Given the description of an element on the screen output the (x, y) to click on. 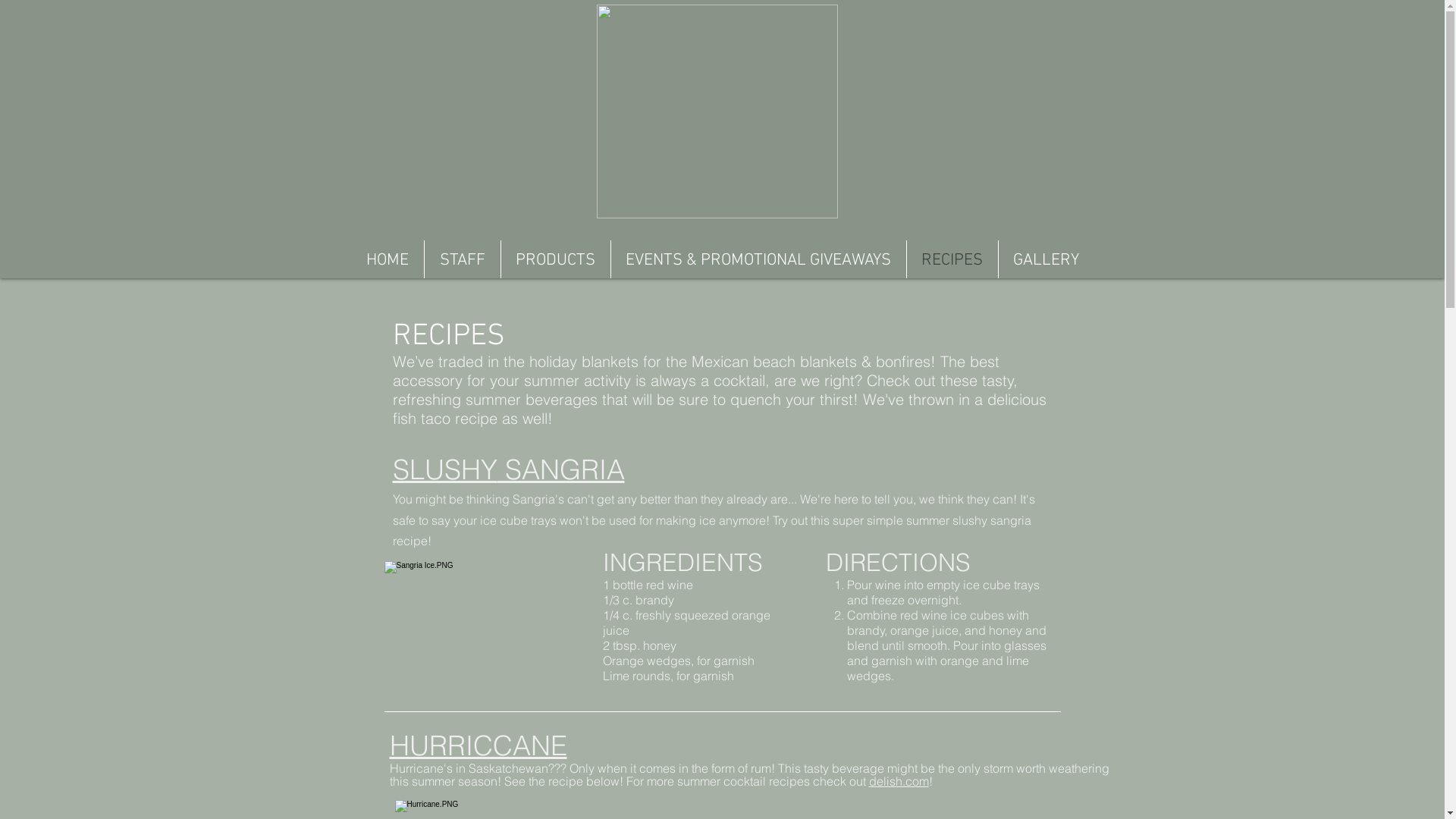
EVENTS & PROMOTIONAL GIVEAWAYS Element type: text (758, 259)
PRODUCTS Element type: text (554, 259)
delish.com Element type: text (898, 780)
HOME Element type: text (386, 259)
GALLERY Element type: text (1045, 259)
RECIPES Element type: text (951, 259)
STAFF Element type: text (462, 259)
